Given the description of an element on the screen output the (x, y) to click on. 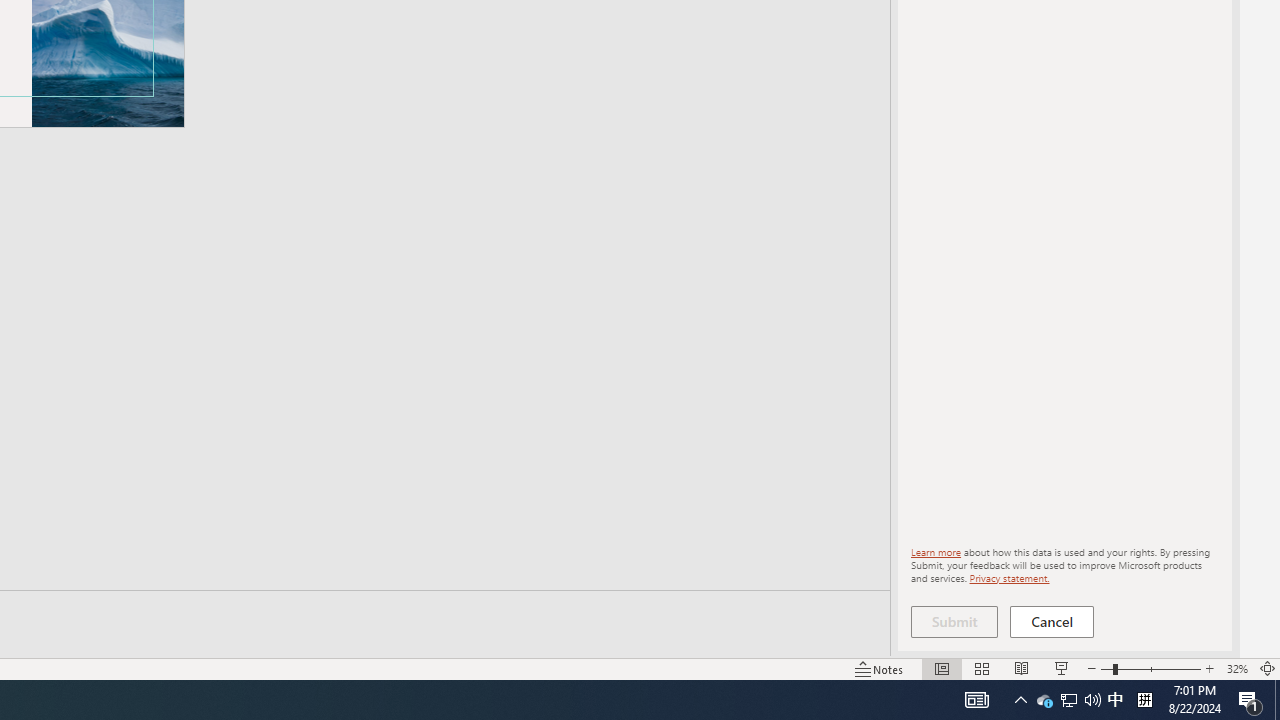
Cancel (1051, 621)
Privacy statement. (1008, 577)
Learn more (936, 551)
Zoom 32% (1236, 668)
Submit (954, 621)
